Given the description of an element on the screen output the (x, y) to click on. 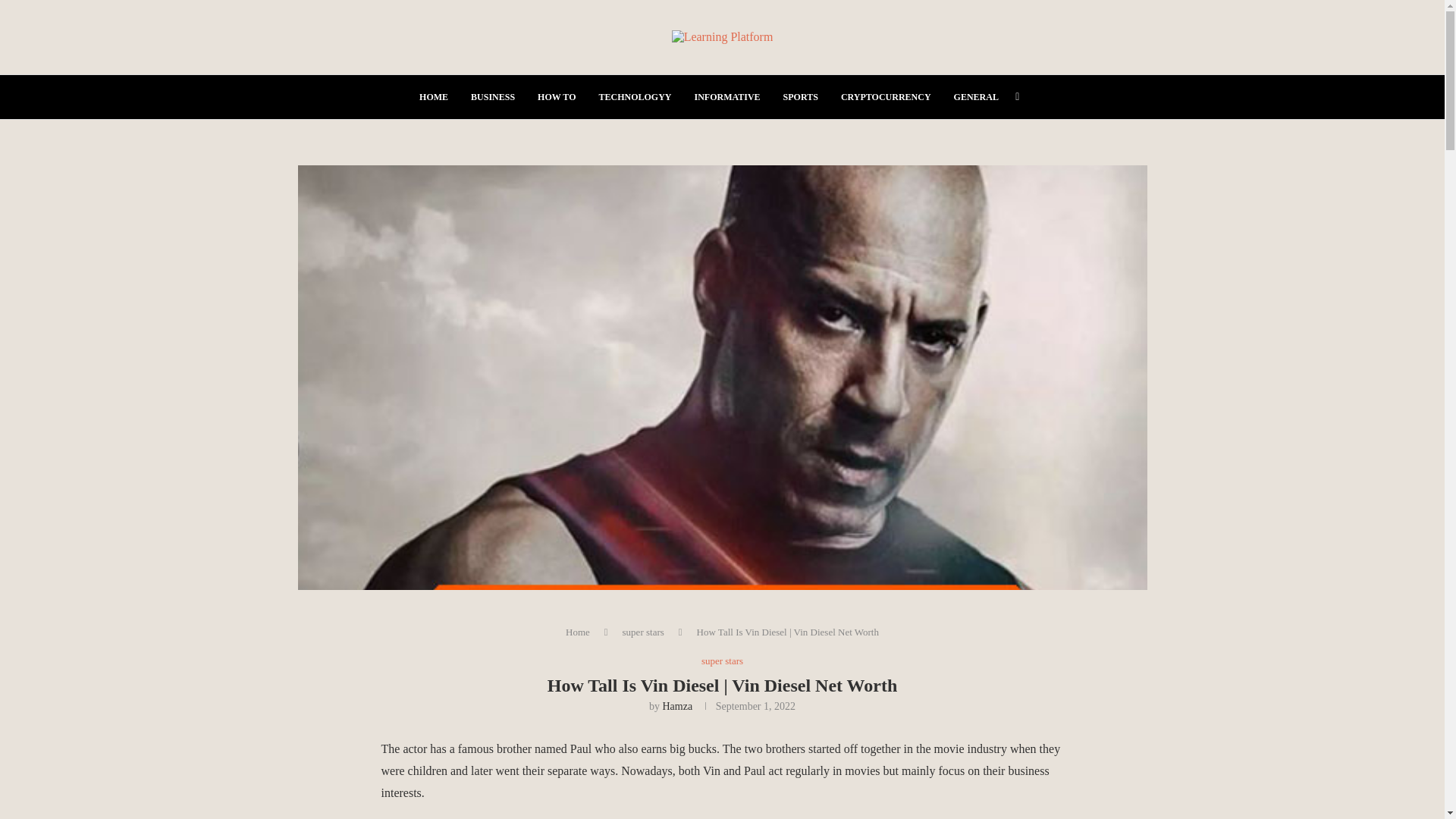
Home (577, 632)
GENERAL (975, 96)
CRYPTOCURRENCY (886, 96)
BUSINESS (492, 96)
super stars (643, 632)
TECHNOLOGYY (634, 96)
super stars (721, 661)
Hamza (677, 706)
INFORMATIVE (727, 96)
